Given the description of an element on the screen output the (x, y) to click on. 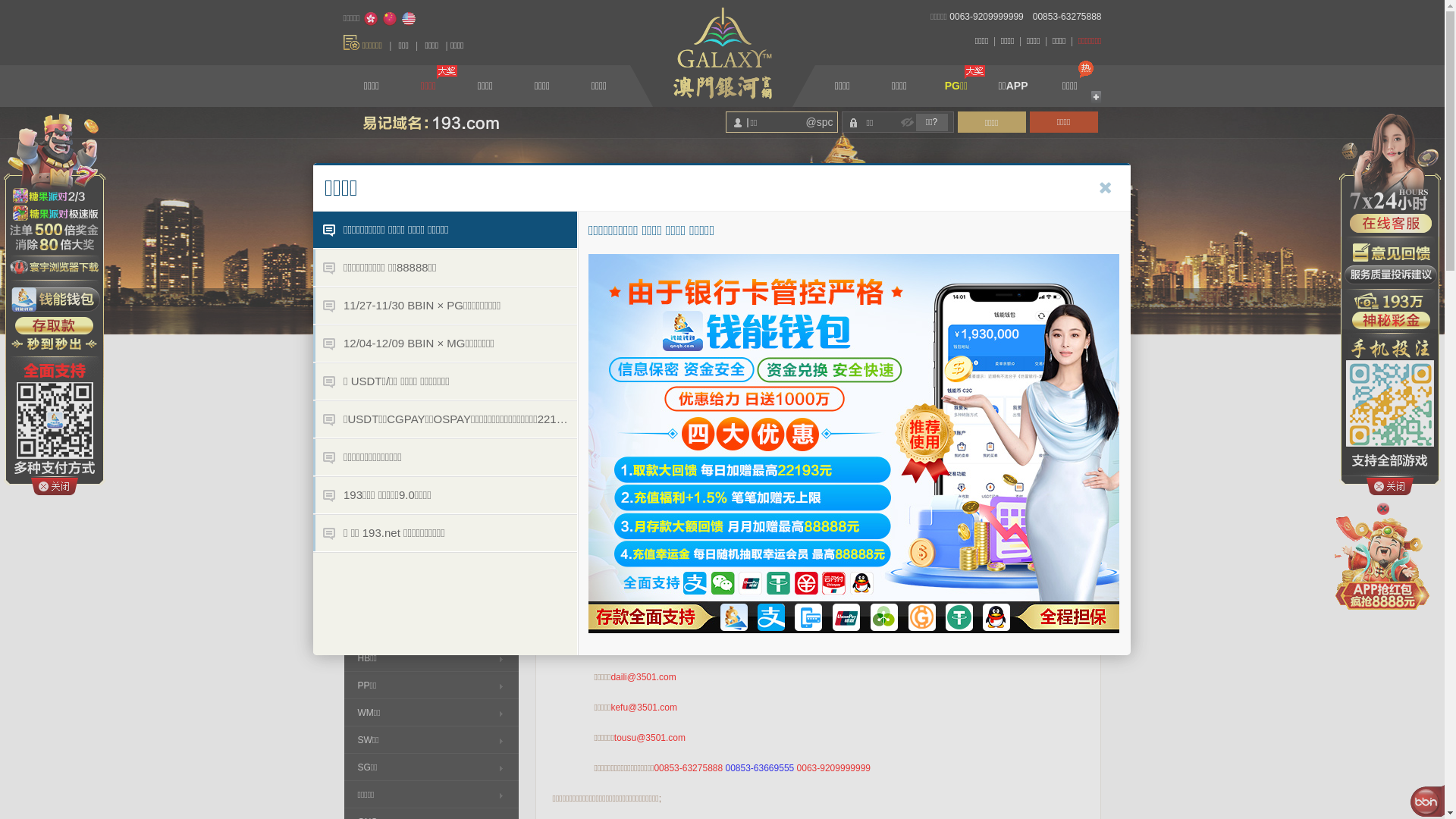
English Element type: hover (408, 18)
